Given the description of an element on the screen output the (x, y) to click on. 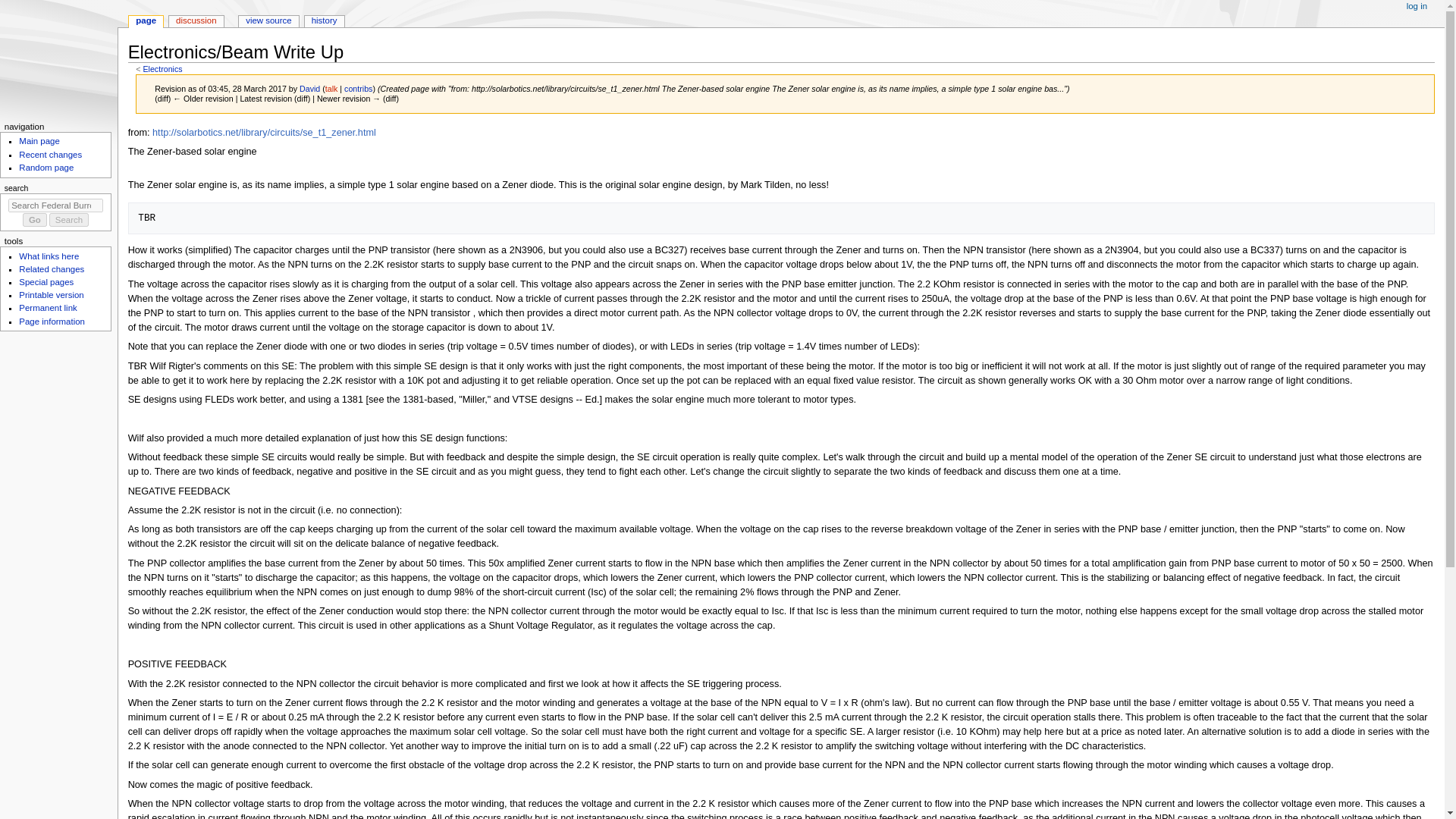
Random page (46, 166)
Related changes (51, 268)
Electronics (162, 68)
Go to a page with this exact name if it exists (34, 219)
Search (68, 219)
page (146, 21)
Permanent link (47, 307)
Go (34, 219)
log in (1416, 6)
What links here (48, 256)
